Given the description of an element on the screen output the (x, y) to click on. 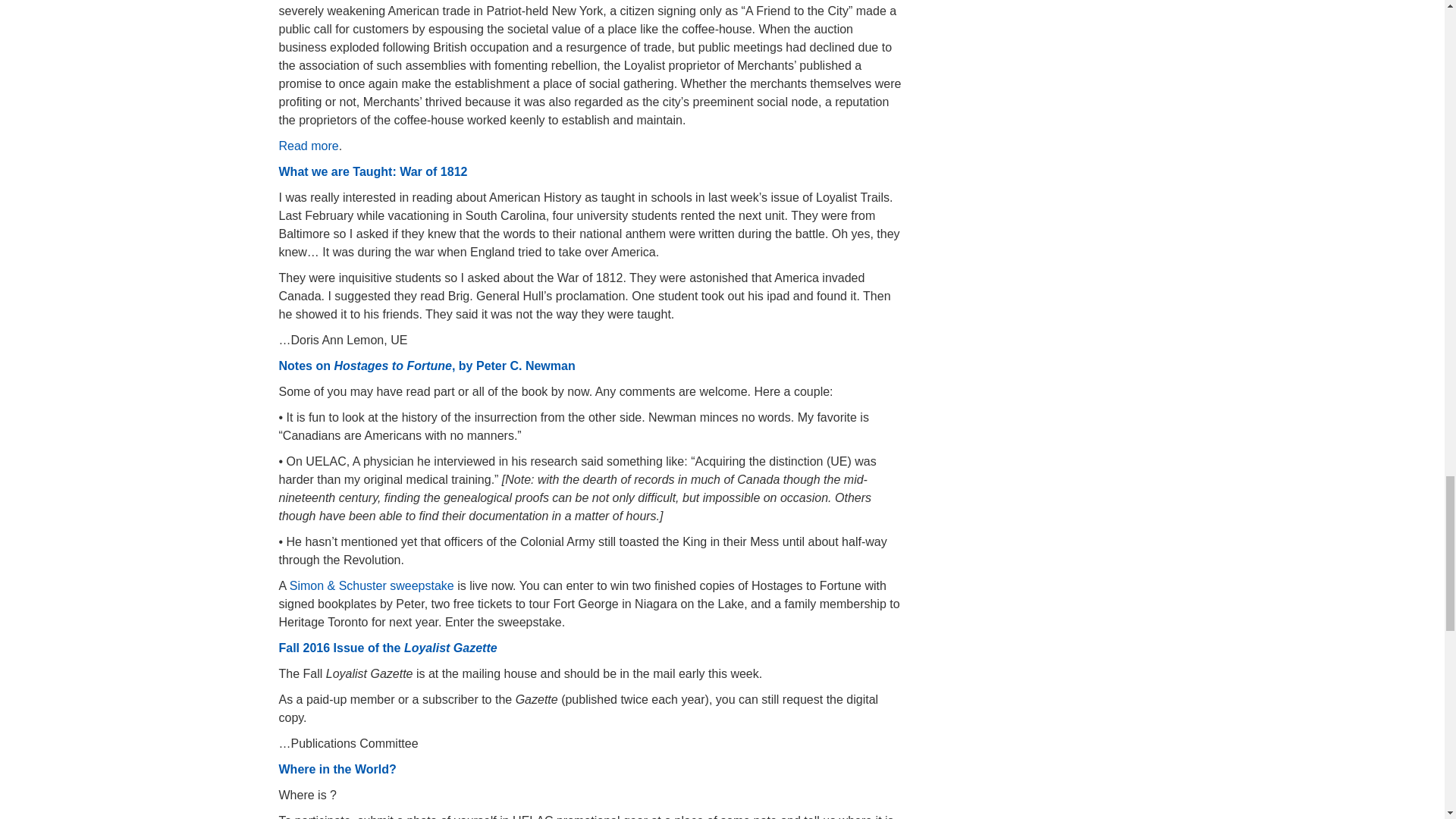
Fall 2016 Issue of the Loyalist Gazette (388, 647)
Notes on Hostages to Fortune, by Peter C. Newman (427, 365)
Read more (309, 145)
Where in the World? (337, 768)
What we are Taught: War of 1812 (373, 171)
